Given the description of an element on the screen output the (x, y) to click on. 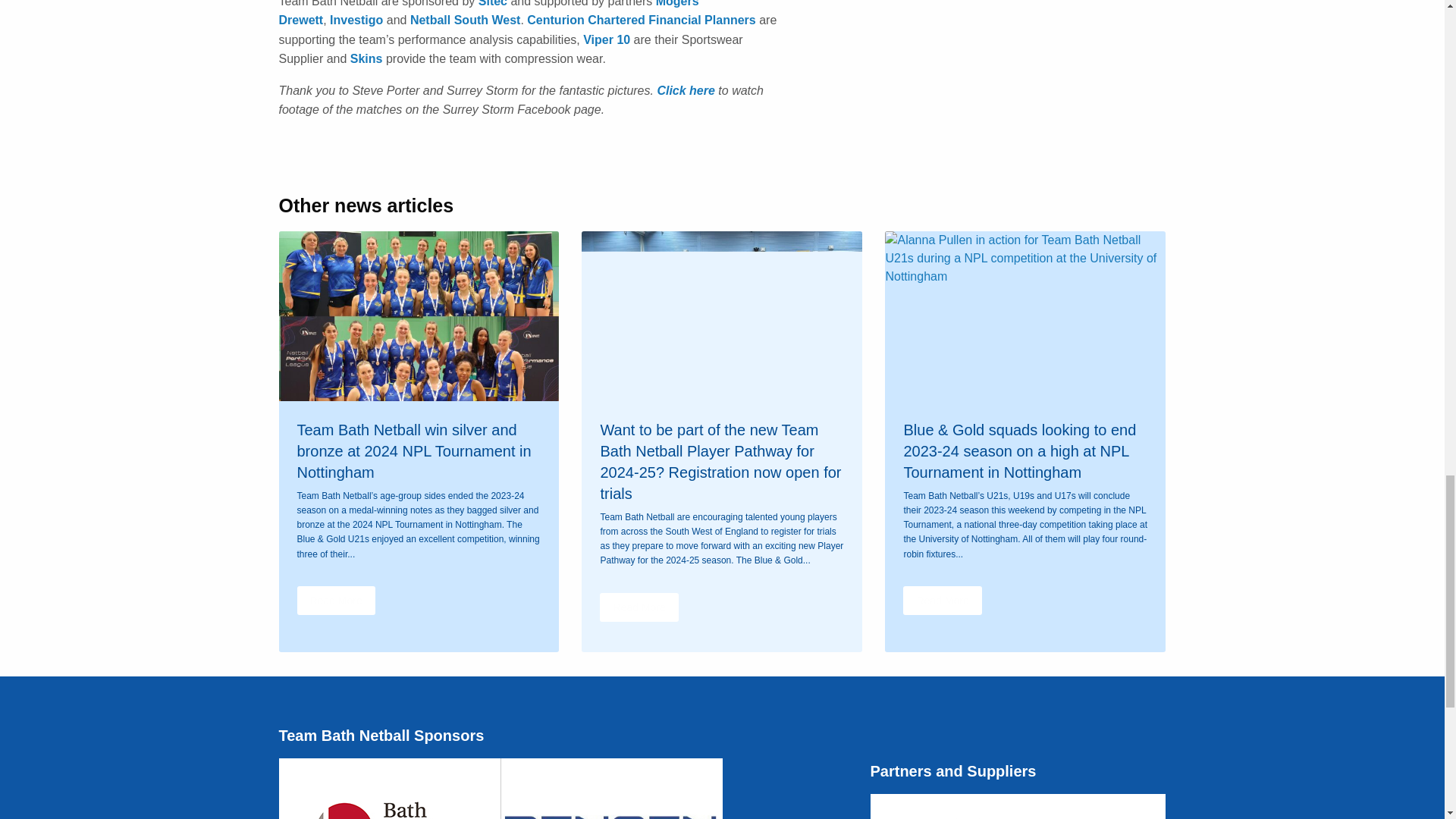
Read More (336, 600)
Skins (366, 58)
Mogers Drewett (488, 13)
Sitec (492, 3)
Centurion Chartered Financial Planners (641, 19)
Read More (638, 606)
Netball South West (465, 19)
Click here (685, 90)
